Given the description of an element on the screen output the (x, y) to click on. 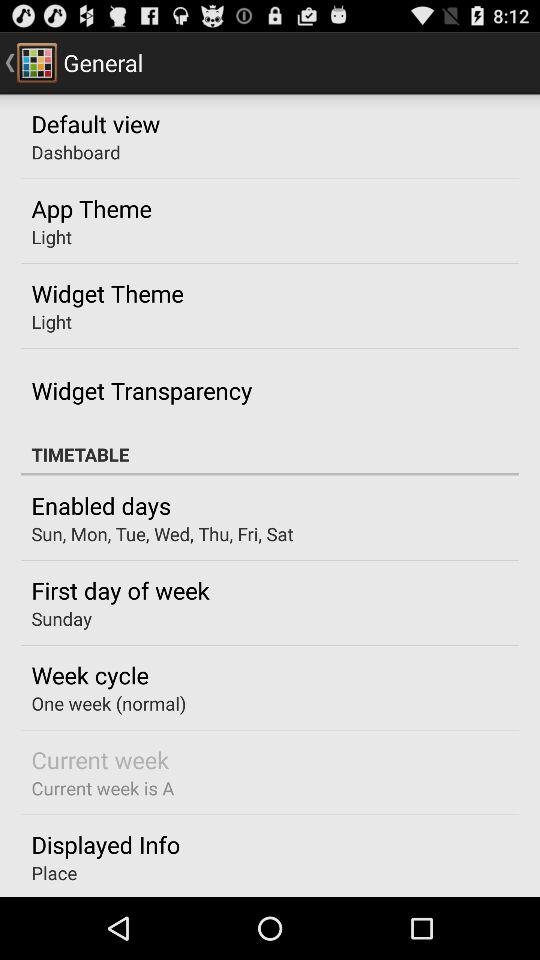
turn on widget transparency item (141, 390)
